Given the description of an element on the screen output the (x, y) to click on. 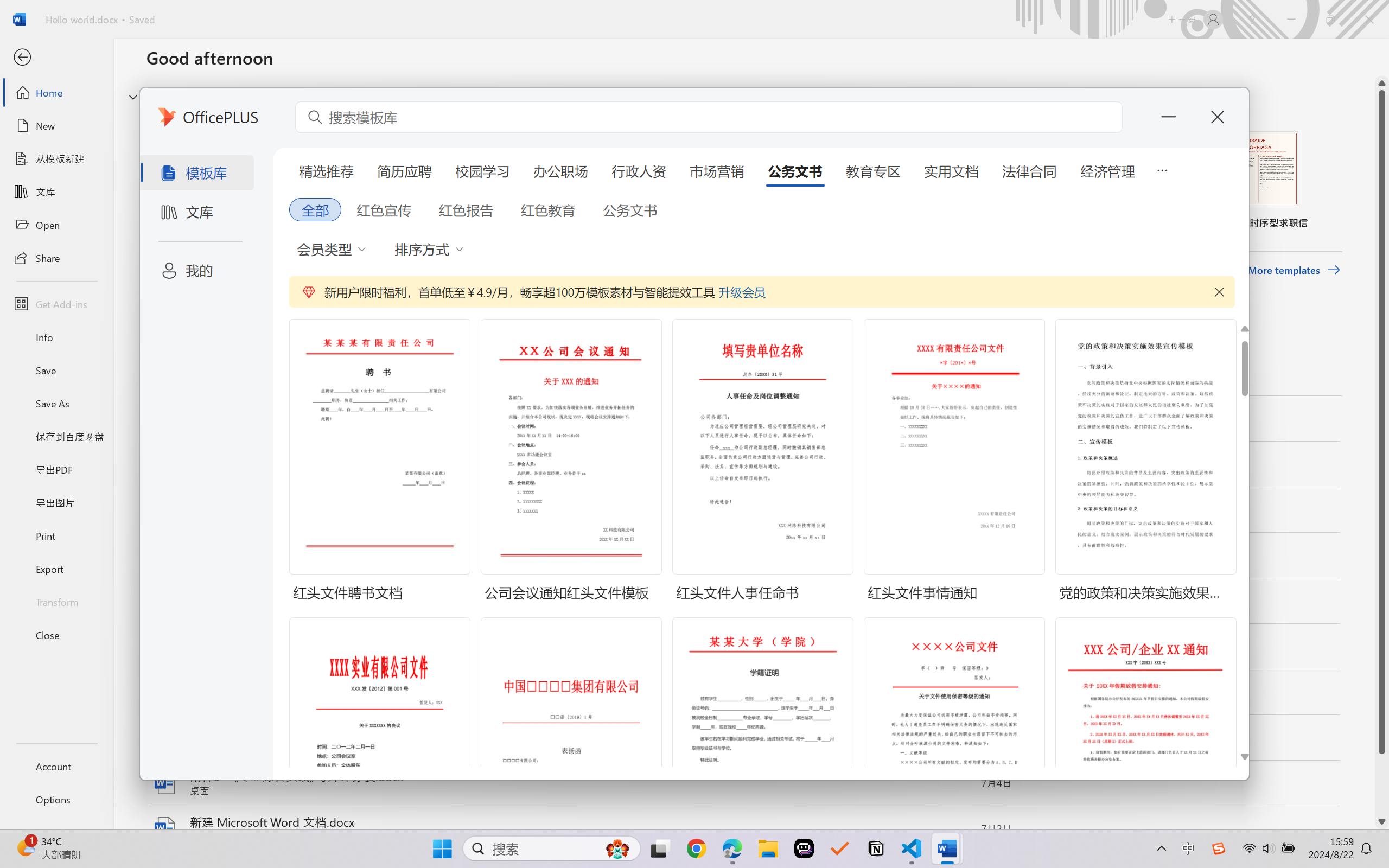
AutomationID: BadgeAnchorLargeTicker (24, 847)
Line down (1382, 821)
Poe (804, 848)
